Given the description of an element on the screen output the (x, y) to click on. 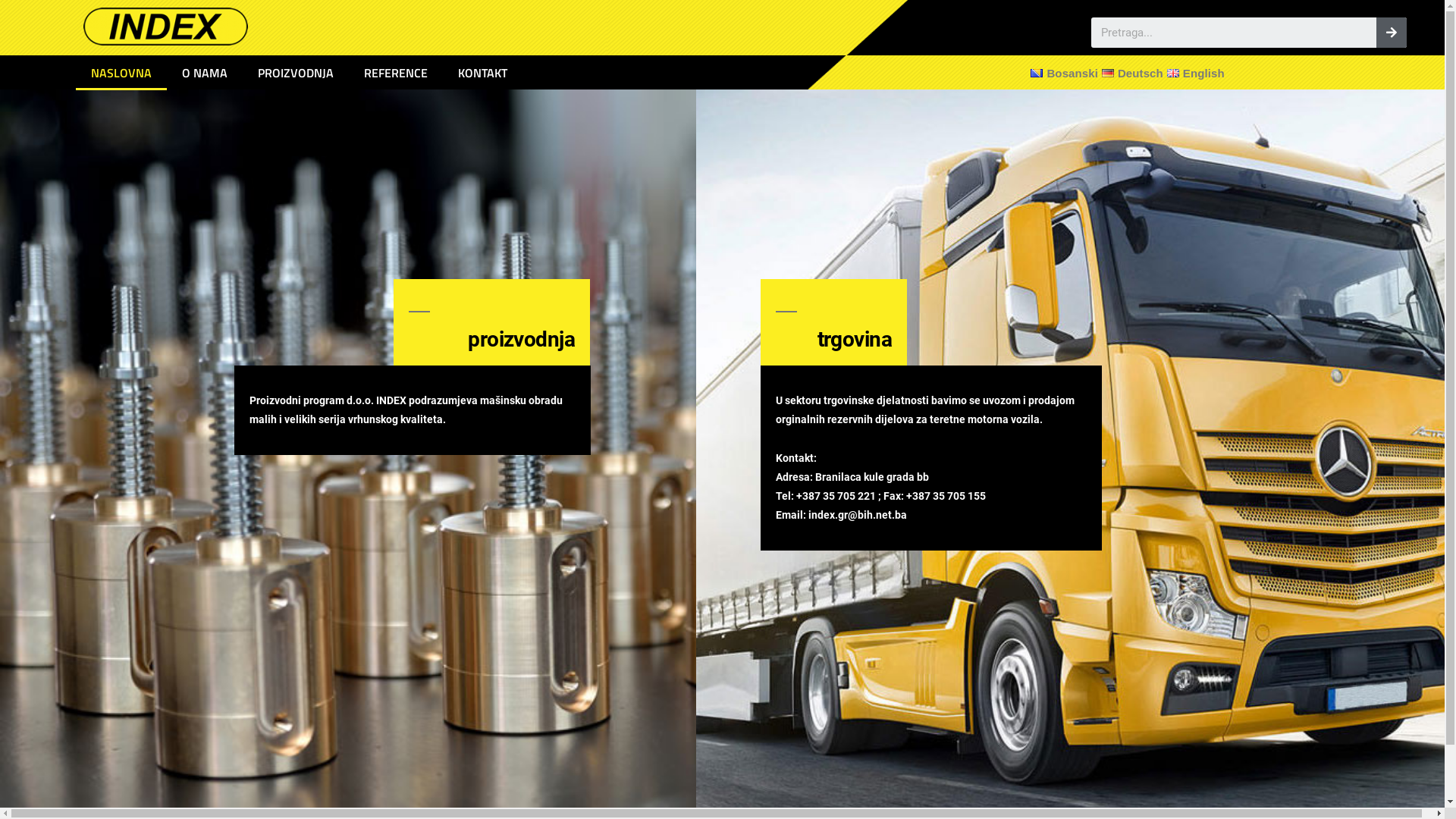
proizvodnja Element type: text (520, 338)
KONTAKT Element type: text (482, 72)
Bosanski Element type: text (1062, 72)
Search Element type: hover (1233, 32)
O NAMA Element type: text (204, 72)
logo2 Element type: hover (165, 26)
Deutsch Element type: text (1130, 72)
REFERENCE Element type: text (395, 72)
English Element type: text (1193, 72)
Search Element type: hover (1391, 32)
PROIZVODNJA Element type: text (295, 72)
NASLOVNA Element type: text (120, 72)
